Given the description of an element on the screen output the (x, y) to click on. 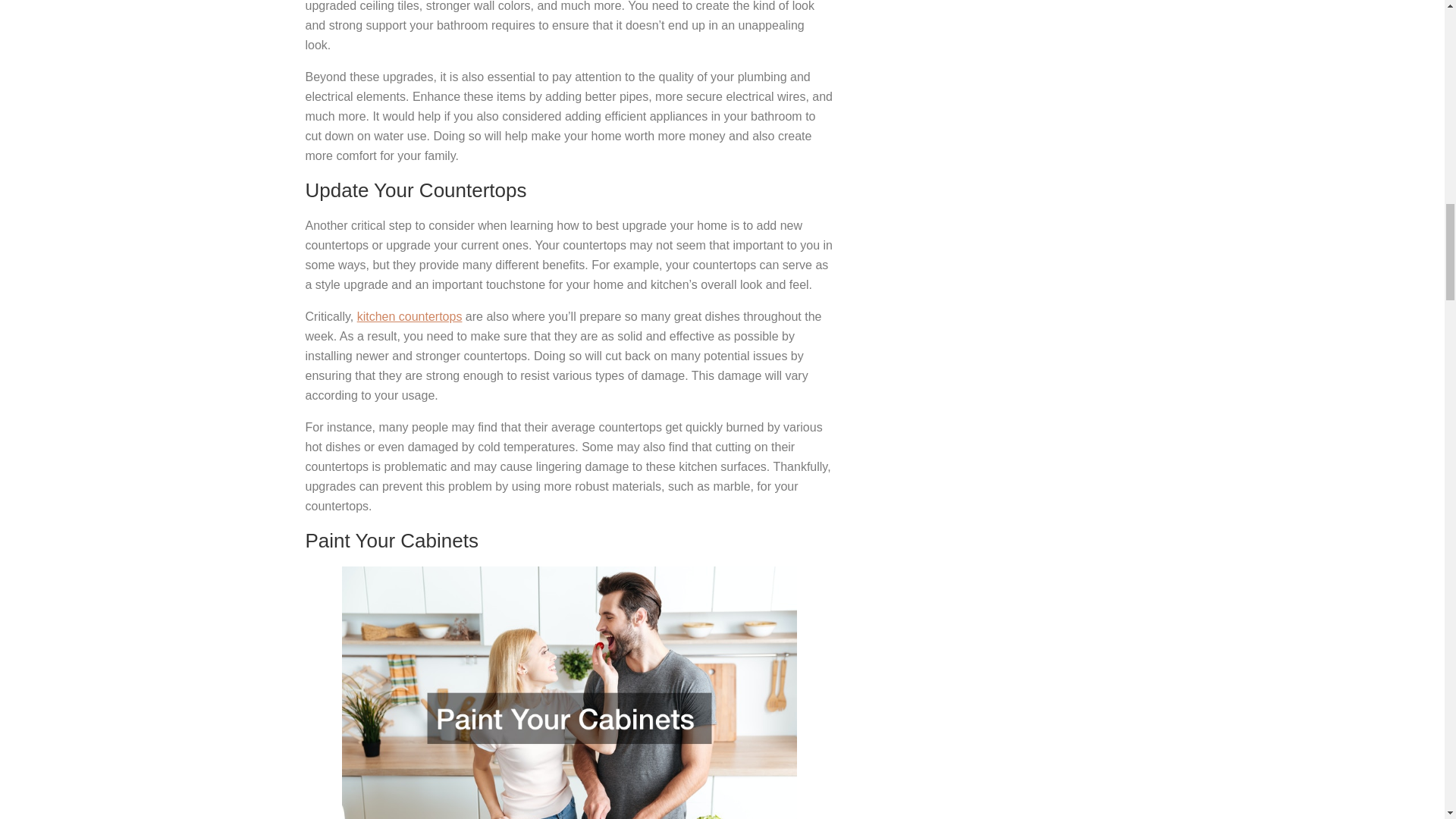
kitchen countertops (409, 316)
